Given the description of an element on the screen output the (x, y) to click on. 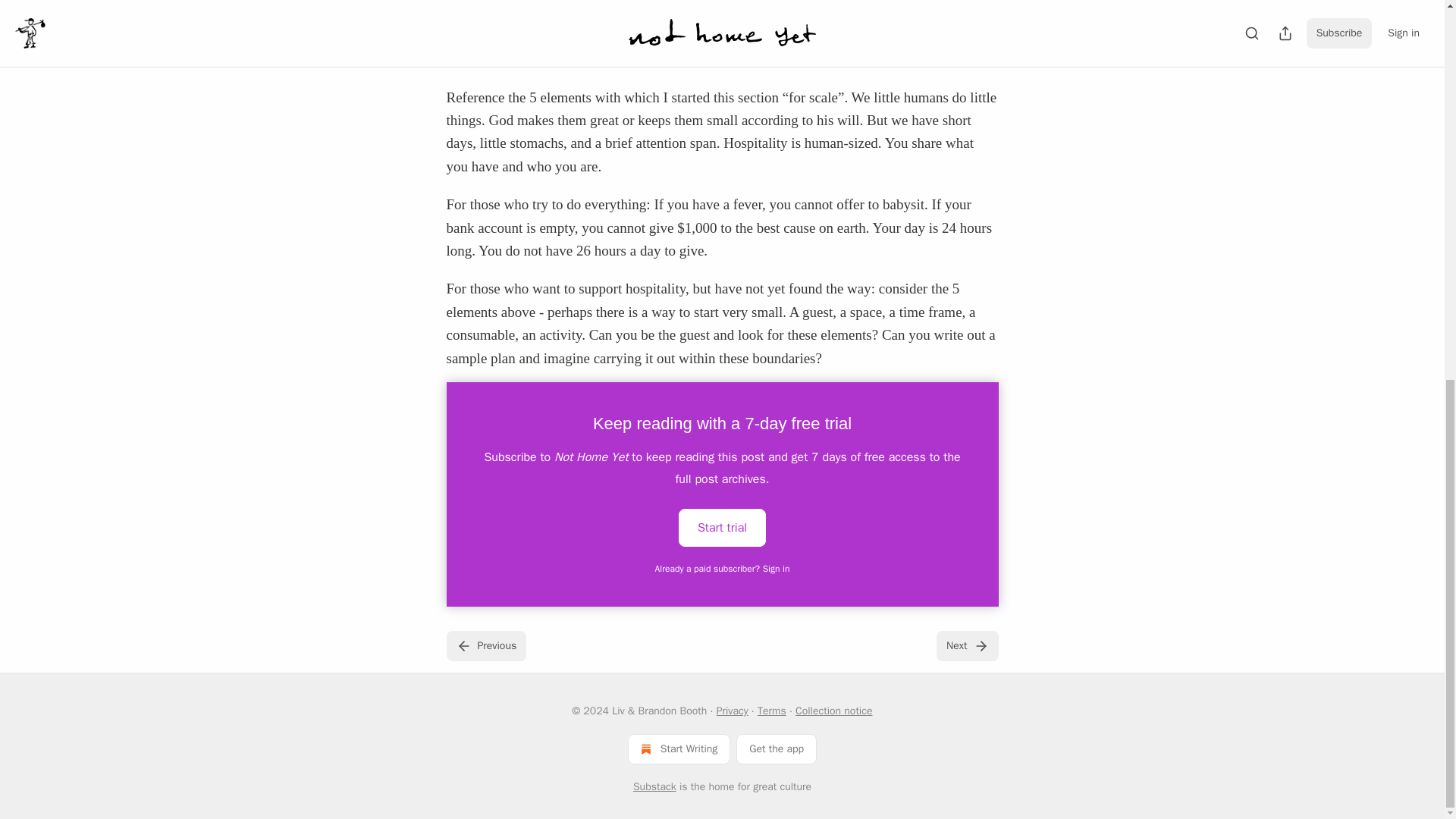
Previous (485, 645)
Start trial (721, 527)
Start trial (721, 526)
Collection notice (833, 710)
Substack (655, 786)
Already a paid subscriber? Sign in (722, 568)
Next (966, 645)
Start Writing (678, 748)
Privacy (732, 710)
Get the app (776, 748)
